Given the description of an element on the screen output the (x, y) to click on. 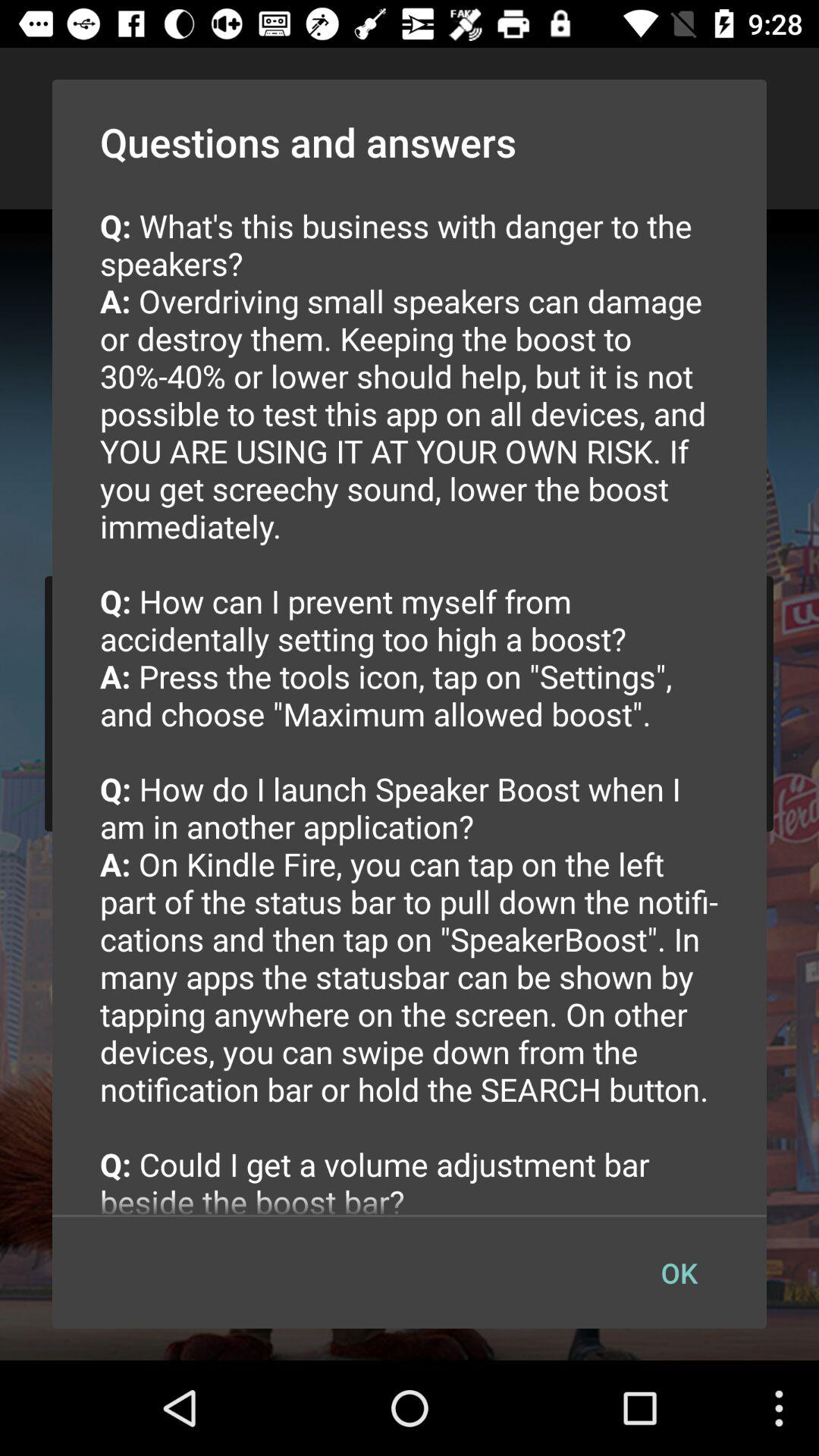
open the button at the bottom right corner (678, 1272)
